Given the description of an element on the screen output the (x, y) to click on. 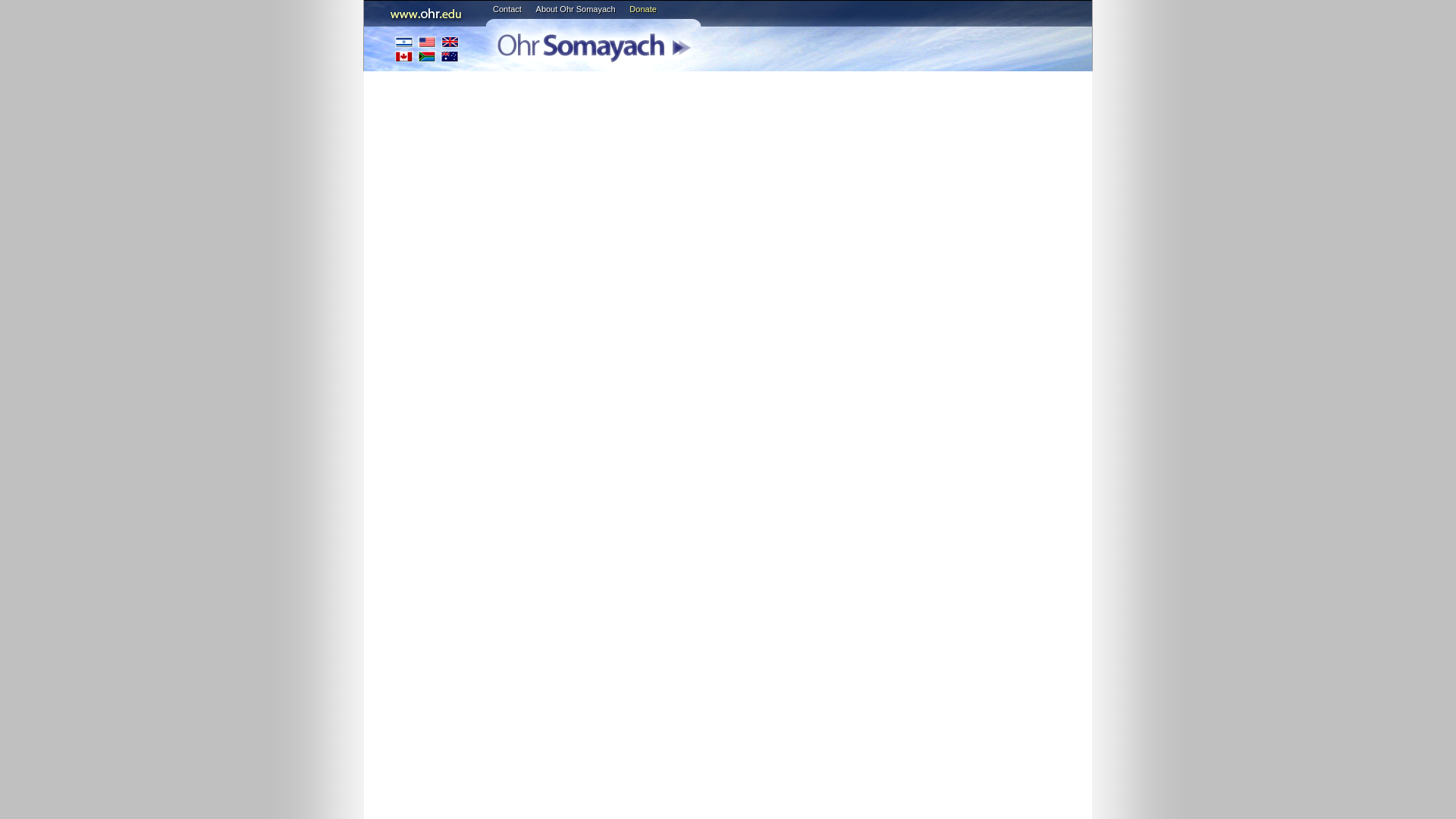
Contact (507, 8)
Donate (642, 8)
About Ohr Somayach (575, 8)
International Branches (427, 49)
International Branches (427, 49)
